Given the description of an element on the screen output the (x, y) to click on. 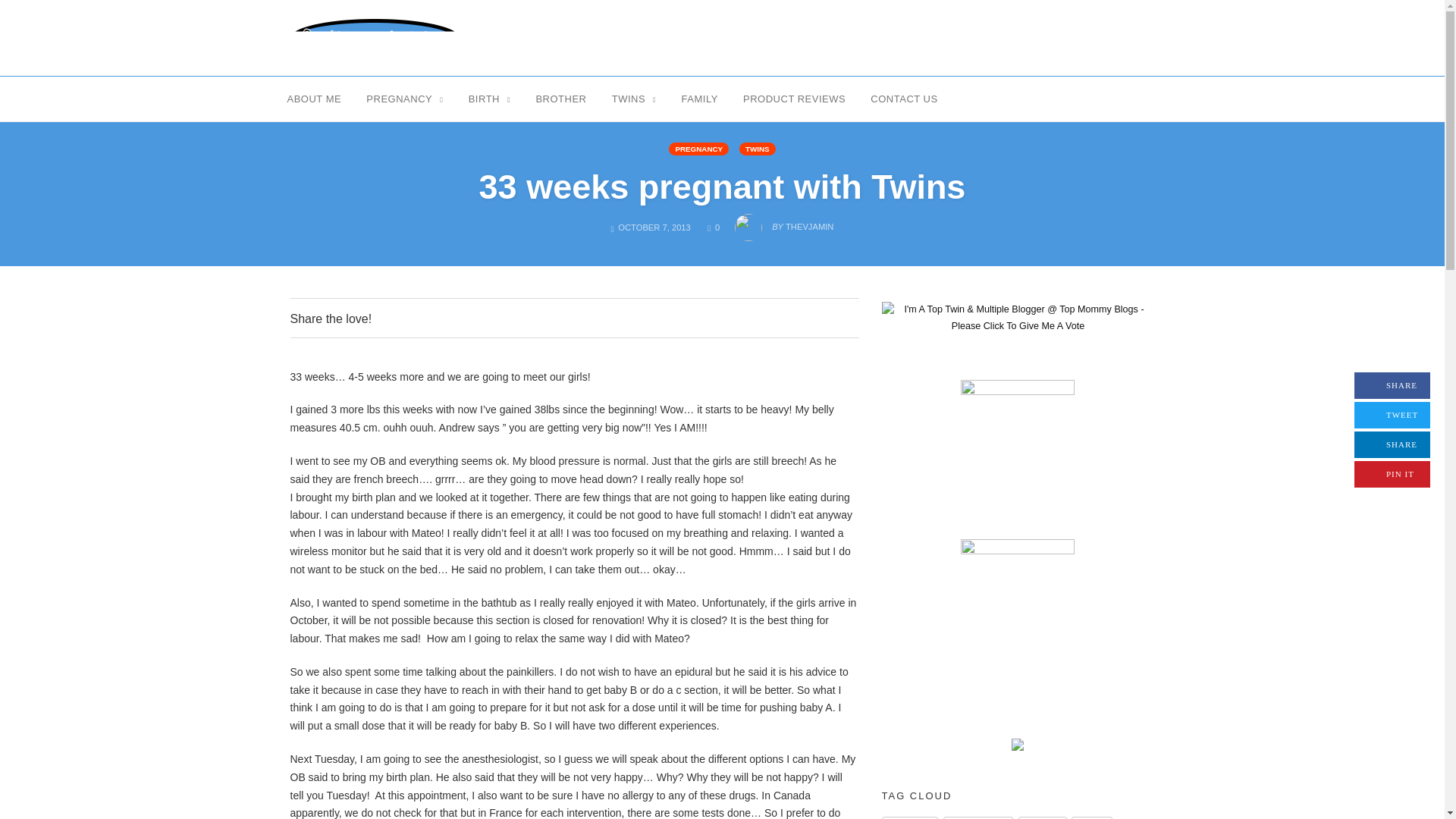
FAMILY (1391, 385)
PRODUCT REVIEWS (699, 97)
ABOUT ME (794, 97)
2 topics (314, 97)
Be the first one to tweet this article! (1091, 817)
33 weeks pregnant with Twins (482, 317)
BROTHER (722, 186)
CONTACT US (1391, 444)
